Given the description of an element on the screen output the (x, y) to click on. 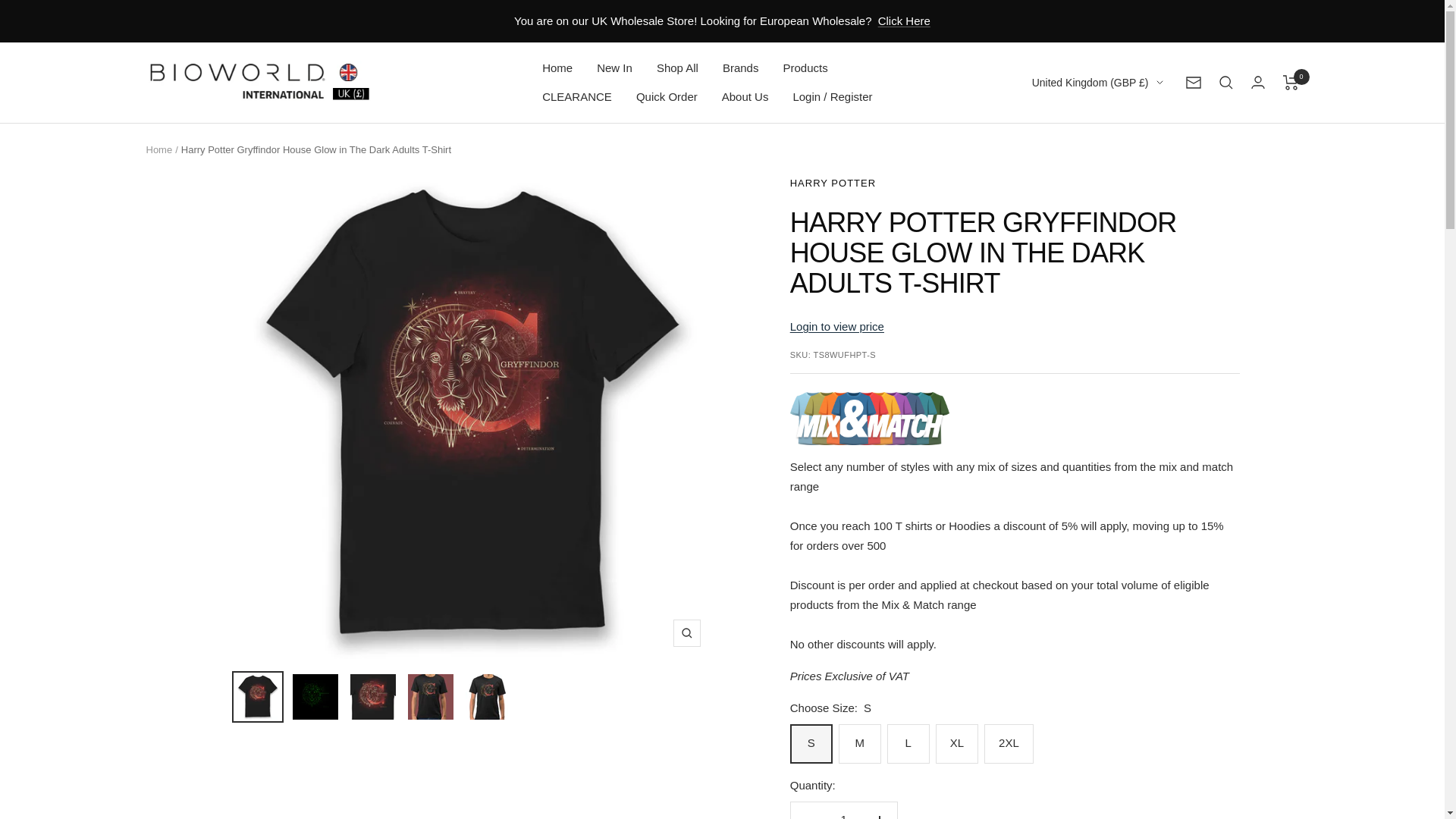
CLEARANCE (576, 96)
1 (843, 810)
GB (1087, 159)
About Us (745, 96)
Click Here (903, 21)
Quick Order (666, 96)
Home (158, 149)
JE (1087, 134)
HARRY POTTER (833, 183)
Newsletter (1193, 82)
Bioworld International UK (258, 82)
New In (613, 67)
